Given the description of an element on the screen output the (x, y) to click on. 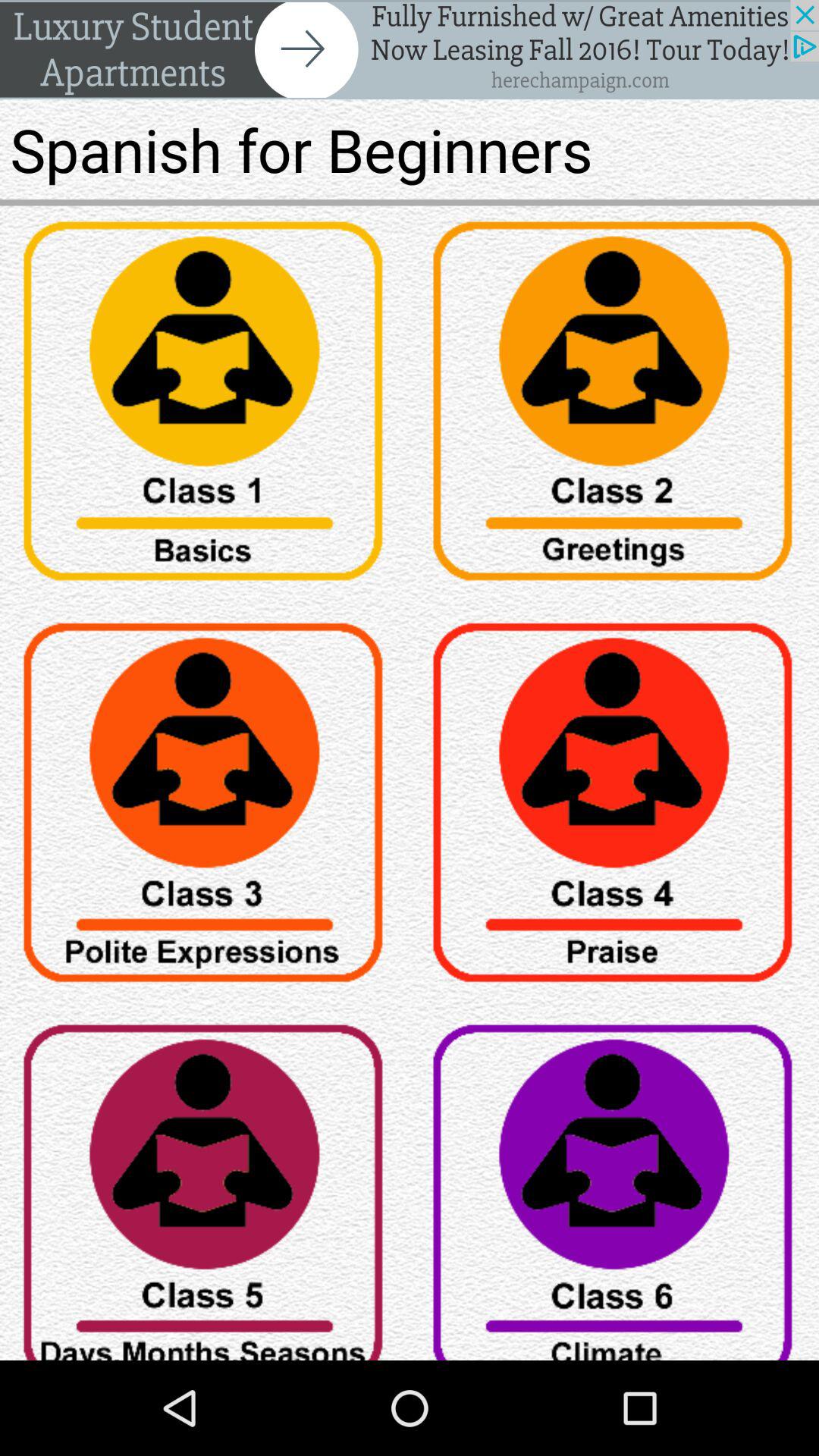
open class 1 (204, 406)
